Given the description of an element on the screen output the (x, y) to click on. 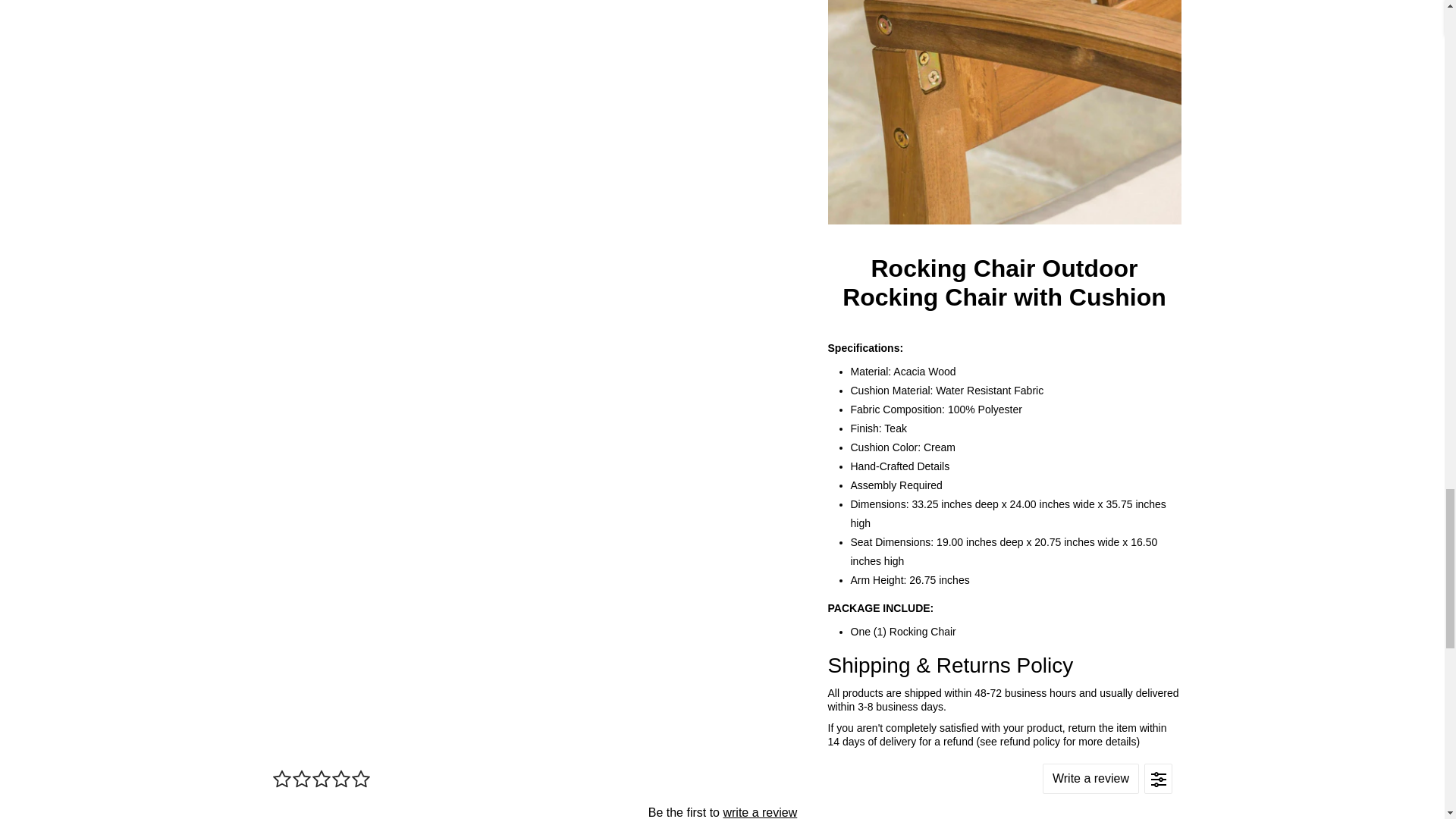
Product reviews widget (721, 783)
